Given the description of an element on the screen output the (x, y) to click on. 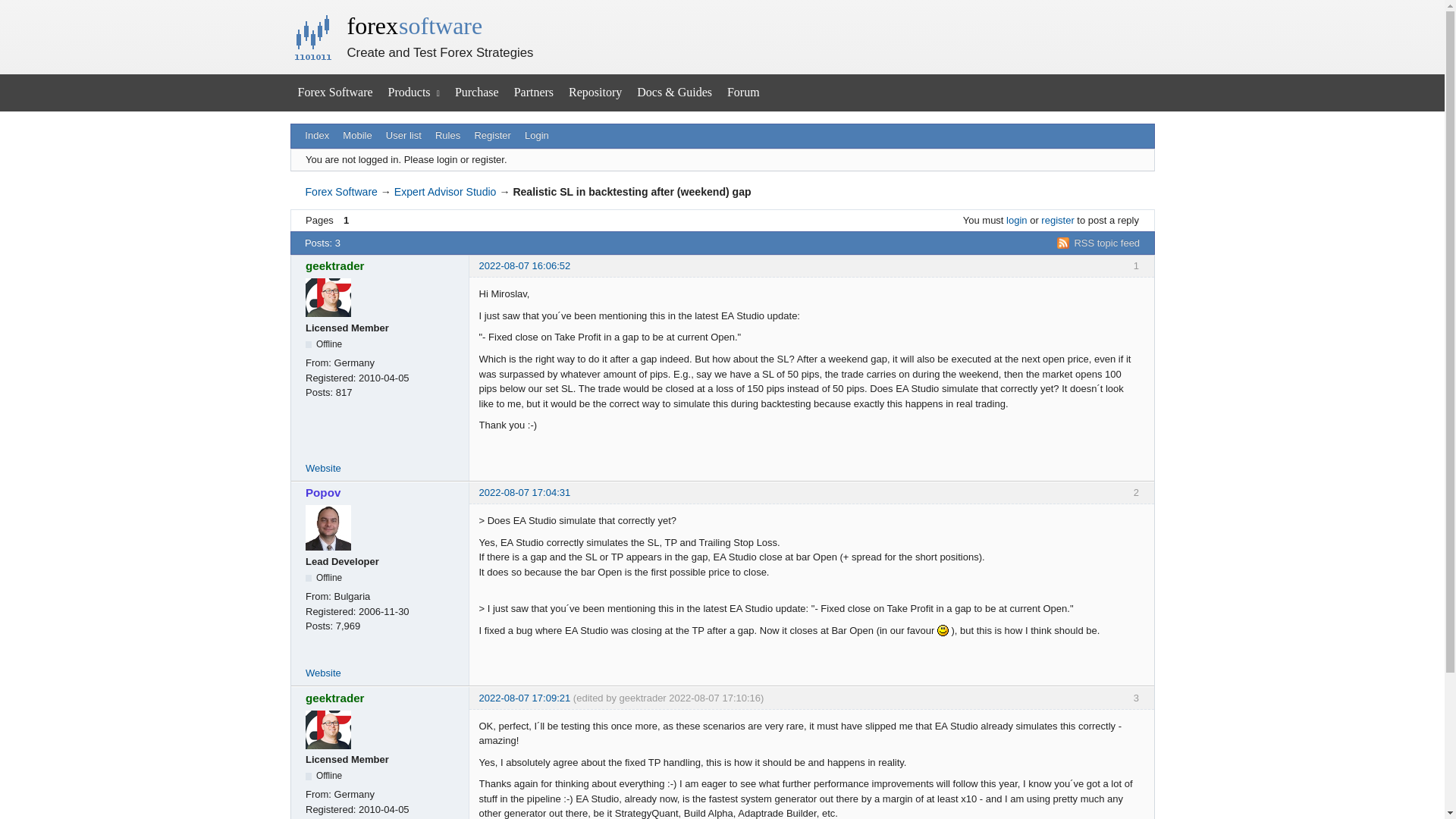
geektrader (381, 698)
Permanent link to this post (524, 697)
Repository (594, 92)
register (1057, 220)
geektrader (381, 265)
Index (317, 136)
Website (322, 468)
2022-08-07 17:04:31 (524, 491)
login (1016, 220)
2022-08-07 16:06:52 (524, 265)
